Given the description of an element on the screen output the (x, y) to click on. 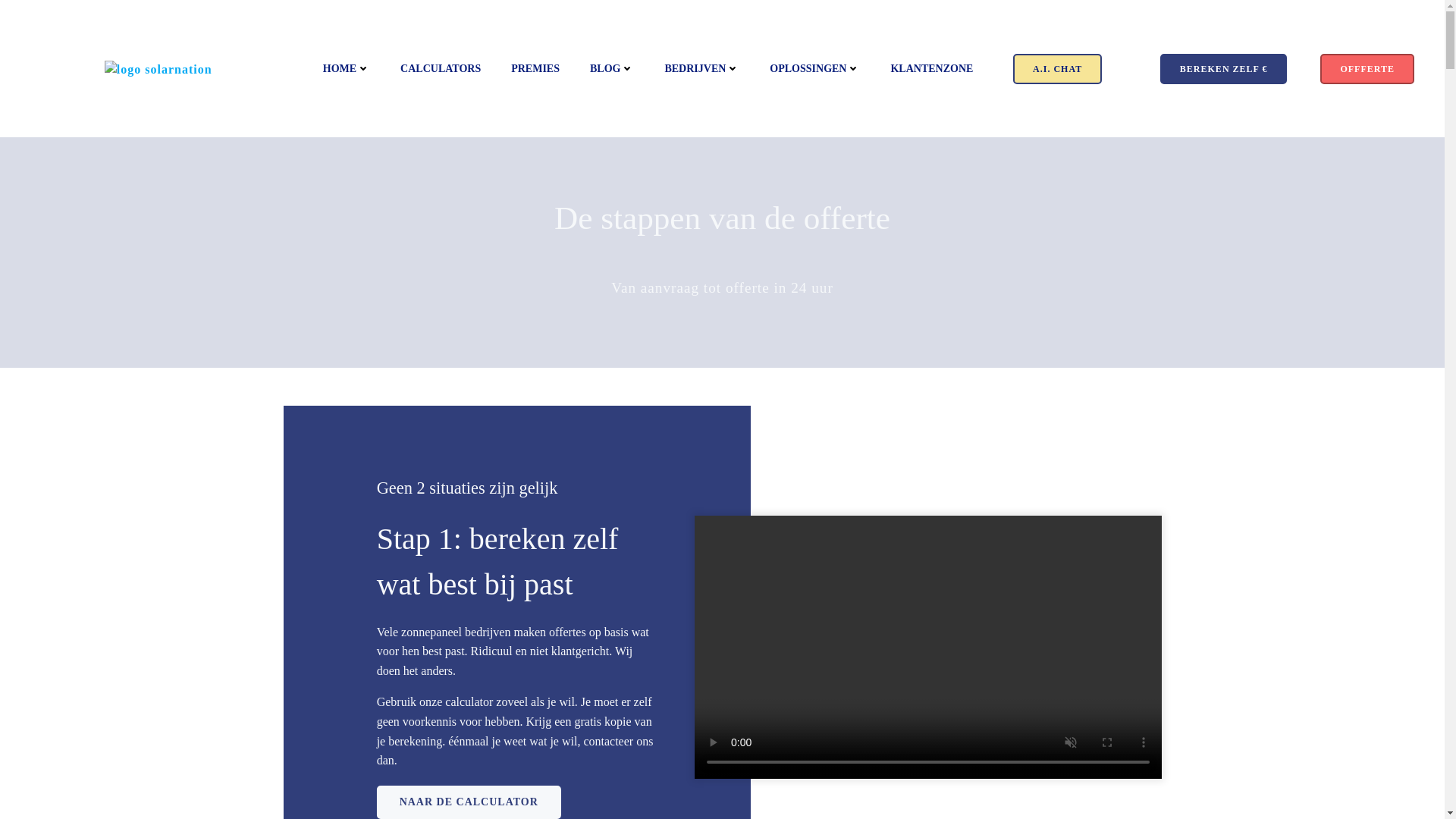
KLANTENZONE Element type: text (931, 68)
A.I. CHAT Element type: text (1057, 68)
OPLOSSINGEN Element type: text (814, 68)
OFFFERTE Element type: text (1367, 68)
PREMIES Element type: text (535, 68)
HOME Element type: text (346, 68)
BLOG Element type: text (611, 68)
BEDRIJVEN Element type: text (701, 68)
CALCULATORS Element type: text (440, 68)
